Given the description of an element on the screen output the (x, y) to click on. 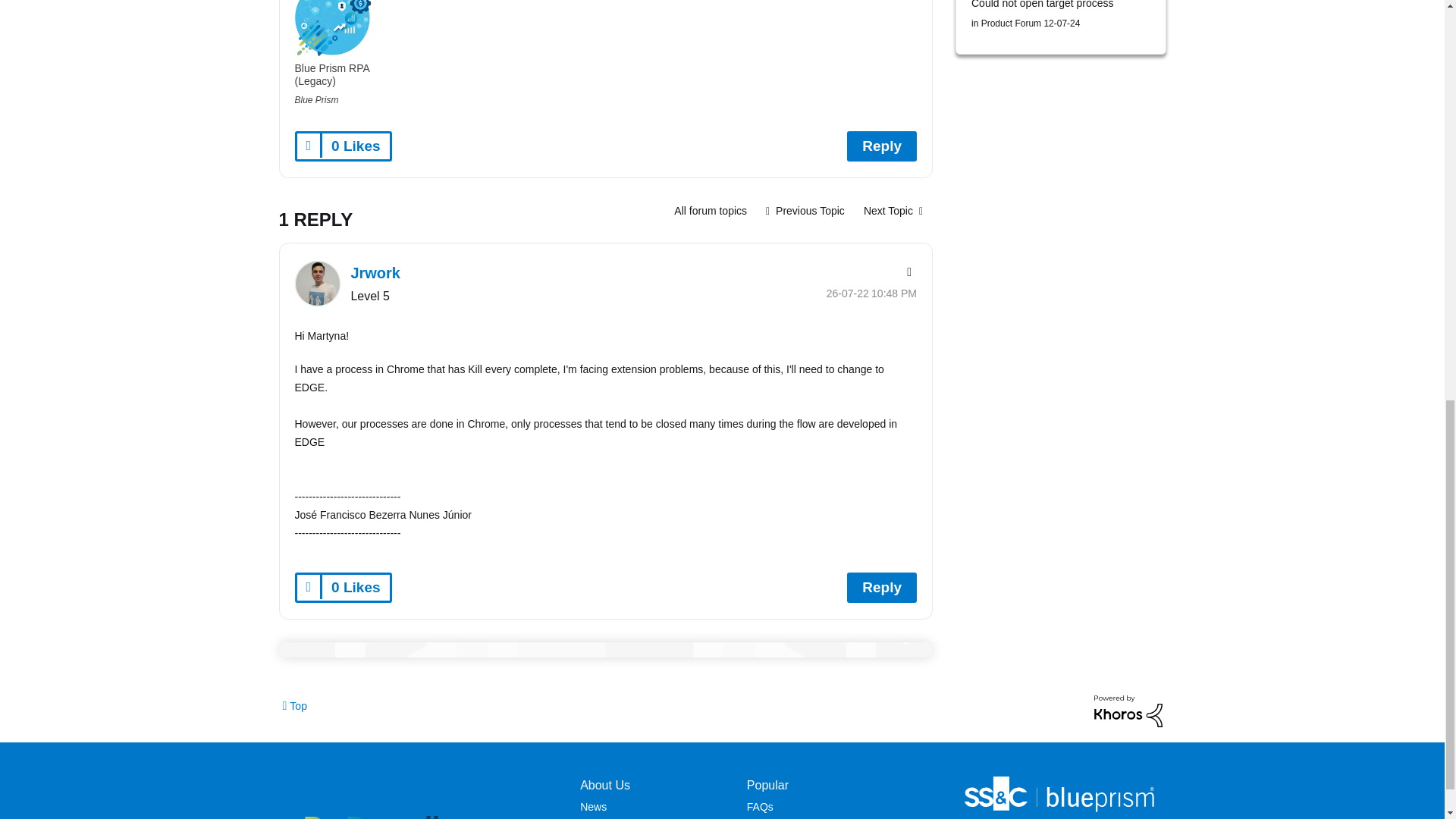
Click here to give likes to this post. (310, 145)
The total number of likes this post has received. (354, 145)
Top (293, 705)
Top (293, 705)
Product Forum (710, 210)
